Given the description of an element on the screen output the (x, y) to click on. 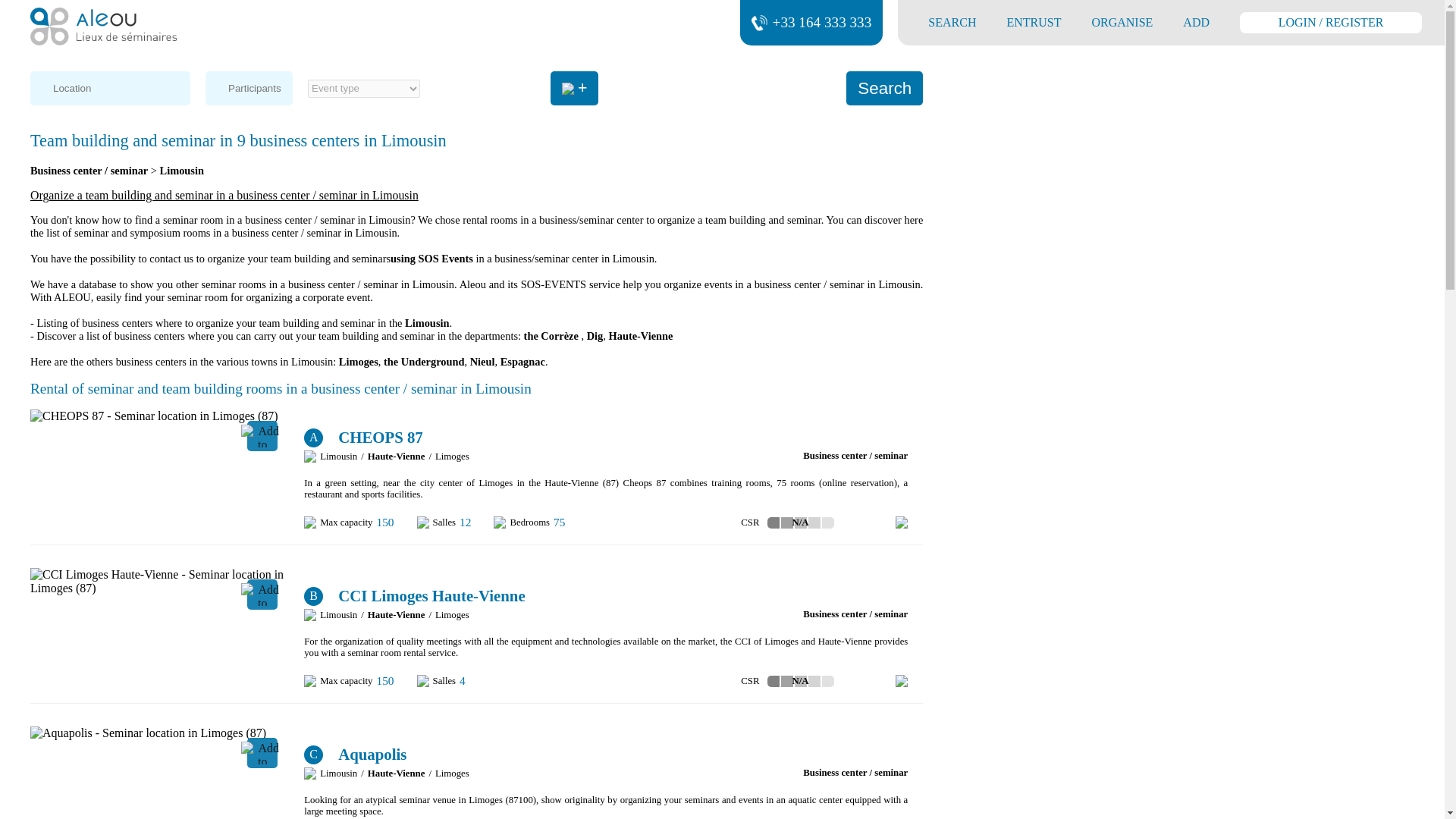
ENTRUST (1033, 22)
Phone Aleou (759, 23)
seminars and congresses organization: meeting venues Guide (103, 27)
ORGANISE (1121, 22)
Organize a seminar with ALEOU.FR (1121, 22)
SEARCH (952, 22)
Aleou (103, 26)
